Given the description of an element on the screen output the (x, y) to click on. 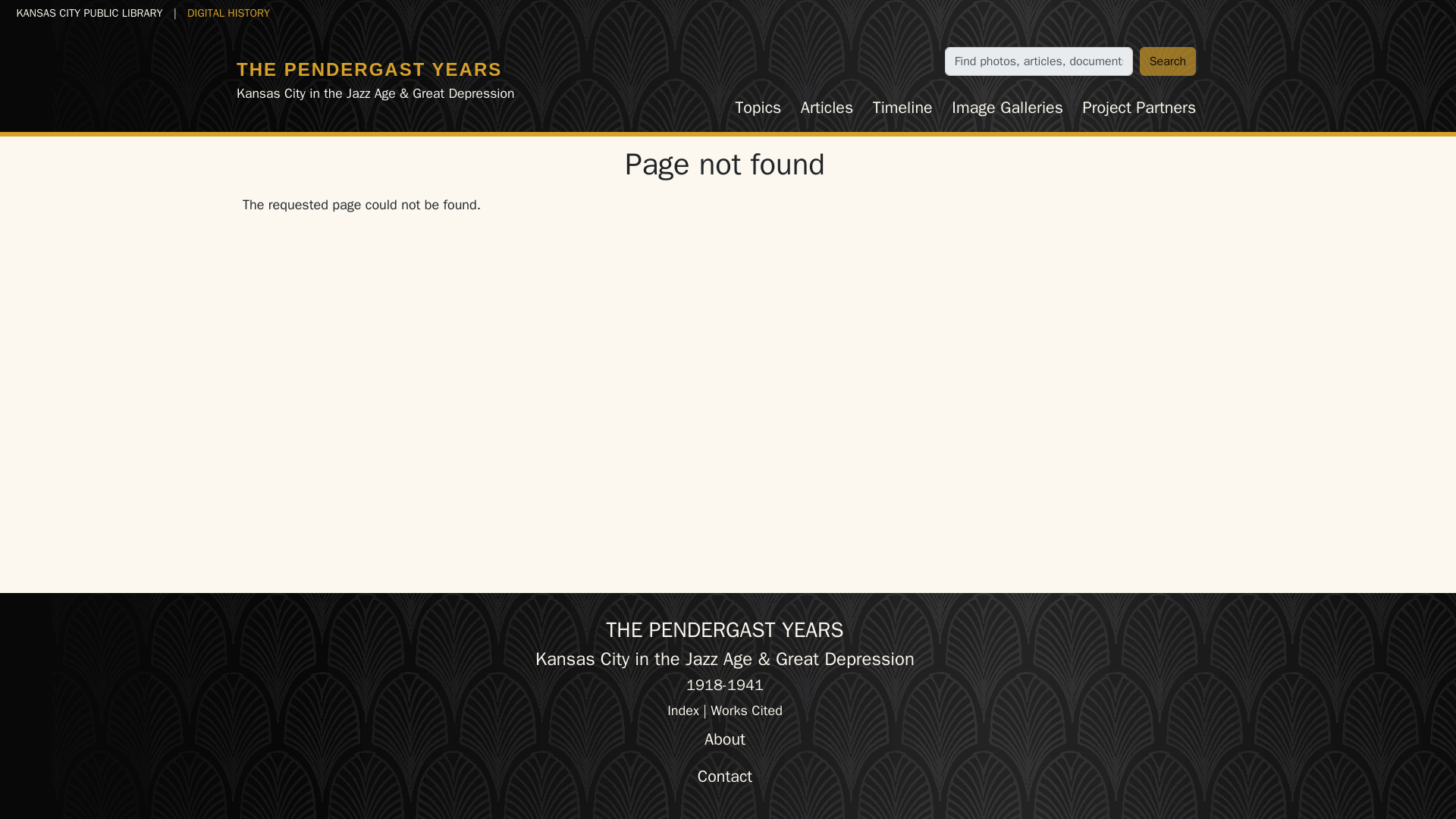
Search (1168, 61)
Search (1168, 61)
Works Cited (746, 710)
Contact (725, 776)
DIGITAL HISTORY (228, 12)
Timeline (902, 107)
Skip to main content (67, 11)
Image Galleries (1007, 107)
THE PENDERGAST YEARS (368, 68)
Articles (826, 107)
